Given the description of an element on the screen output the (x, y) to click on. 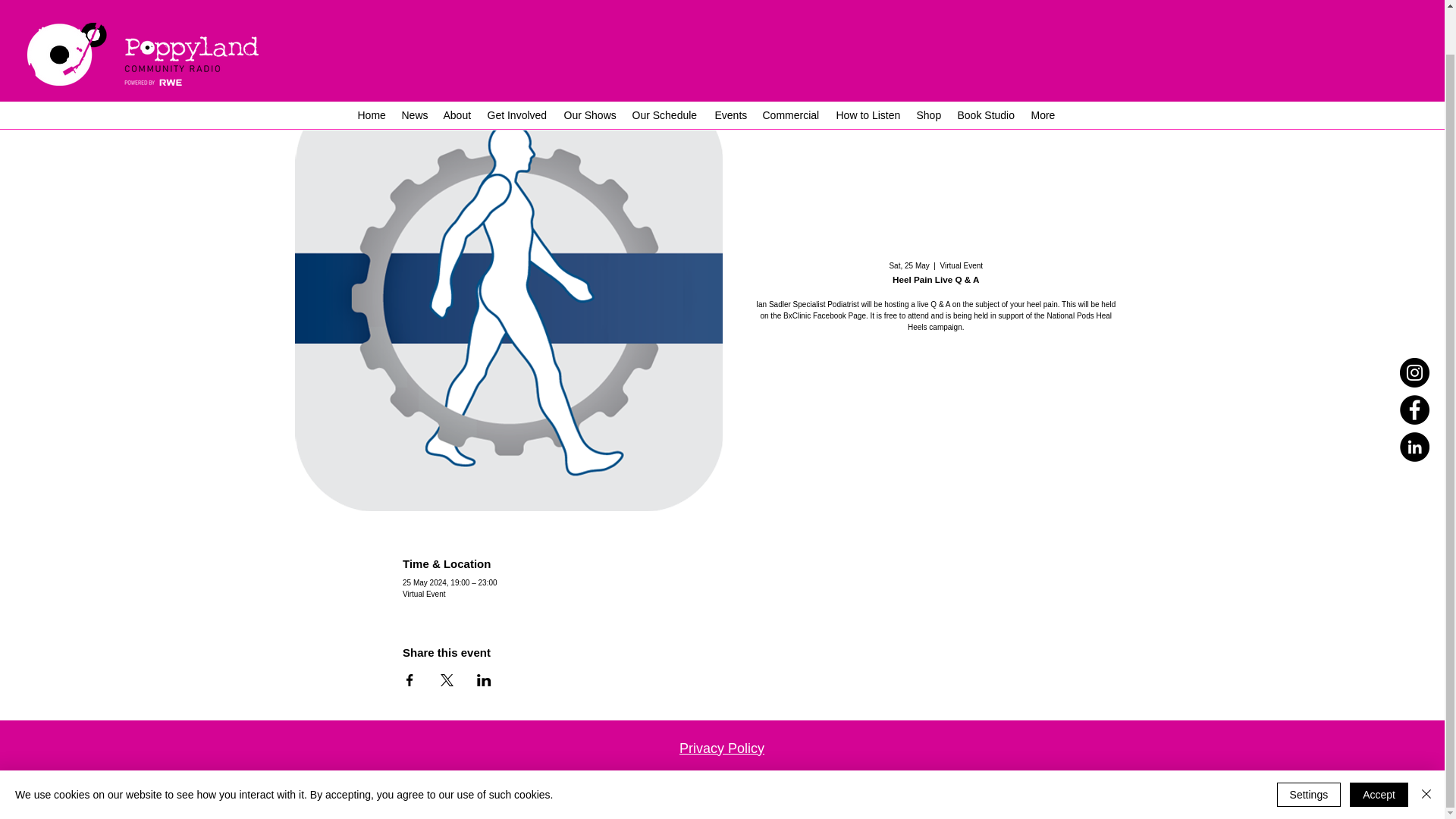
Privacy Policy (721, 747)
Get Involved (517, 67)
Settings (1308, 747)
Events (730, 67)
Shop (928, 67)
News (414, 67)
Our Shows (590, 67)
Home (372, 67)
How to Listen (868, 67)
Embedded Content (1285, 27)
